Given the description of an element on the screen output the (x, y) to click on. 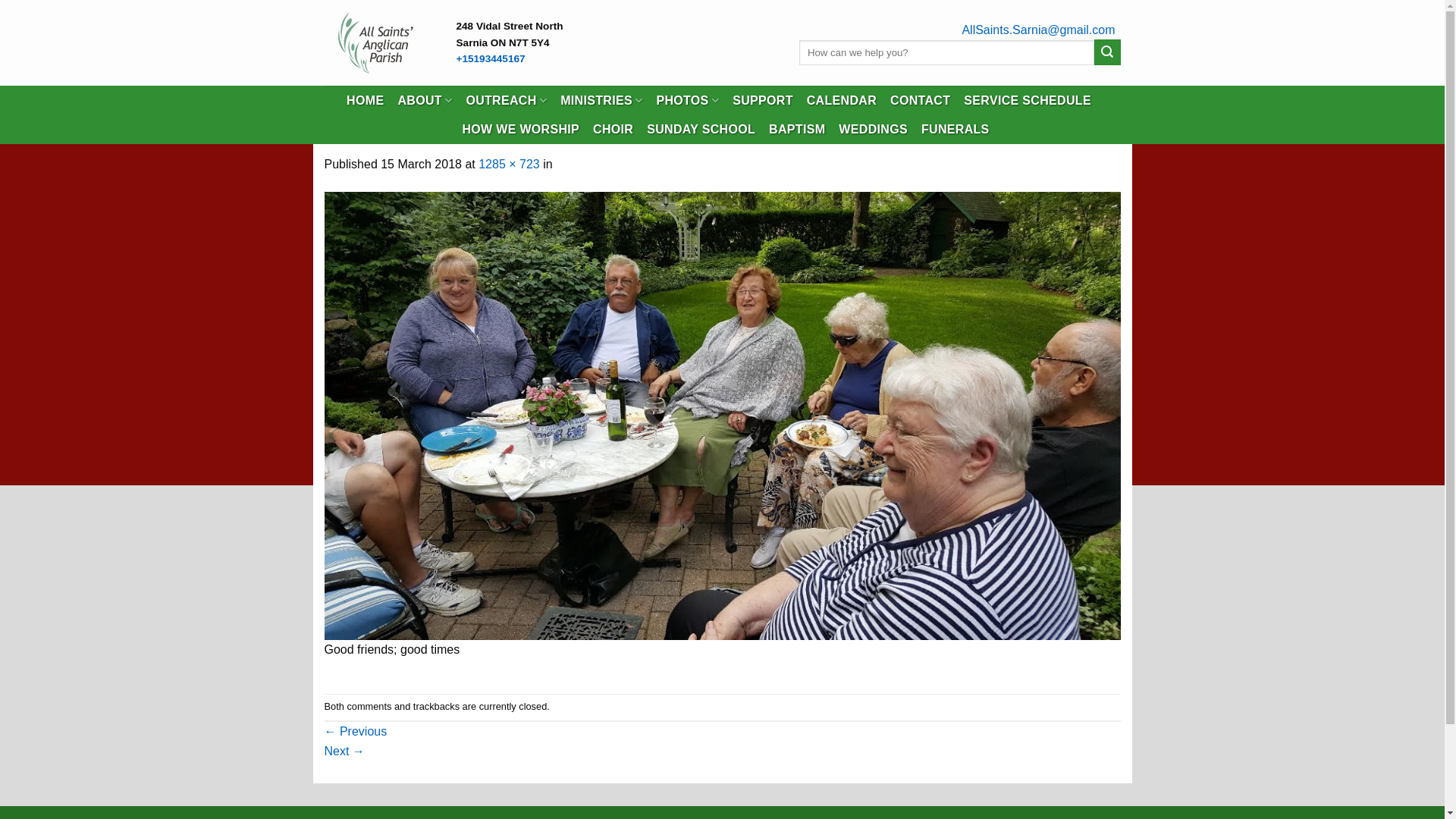
OUTREACH Element type: text (505, 100)
SUPPORT Element type: text (762, 100)
WEDDINGS Element type: text (872, 129)
HOME Element type: text (364, 100)
AllSaints.Sarnia@gmail.com Element type: text (1037, 29)
BAPTISM Element type: text (796, 129)
FUNERALS Element type: text (955, 129)
SUNDAY SCHOOL Element type: text (700, 129)
ABOUT Element type: text (424, 100)
+15193445167 Element type: text (490, 58)
Skip to content Element type: text (0, 0)
HOW WE WORSHIP Element type: text (520, 129)
CONTACT Element type: text (920, 100)
CHOIR Element type: text (613, 129)
MINISTRIES Element type: text (601, 100)
PHOTOS Element type: text (686, 100)
All Saints' Anglican Parish Church -  Element type: hover (378, 42)
CALENDAR Element type: text (841, 100)
SERVICE SCHEDULE Element type: text (1027, 100)
